Given the description of an element on the screen output the (x, y) to click on. 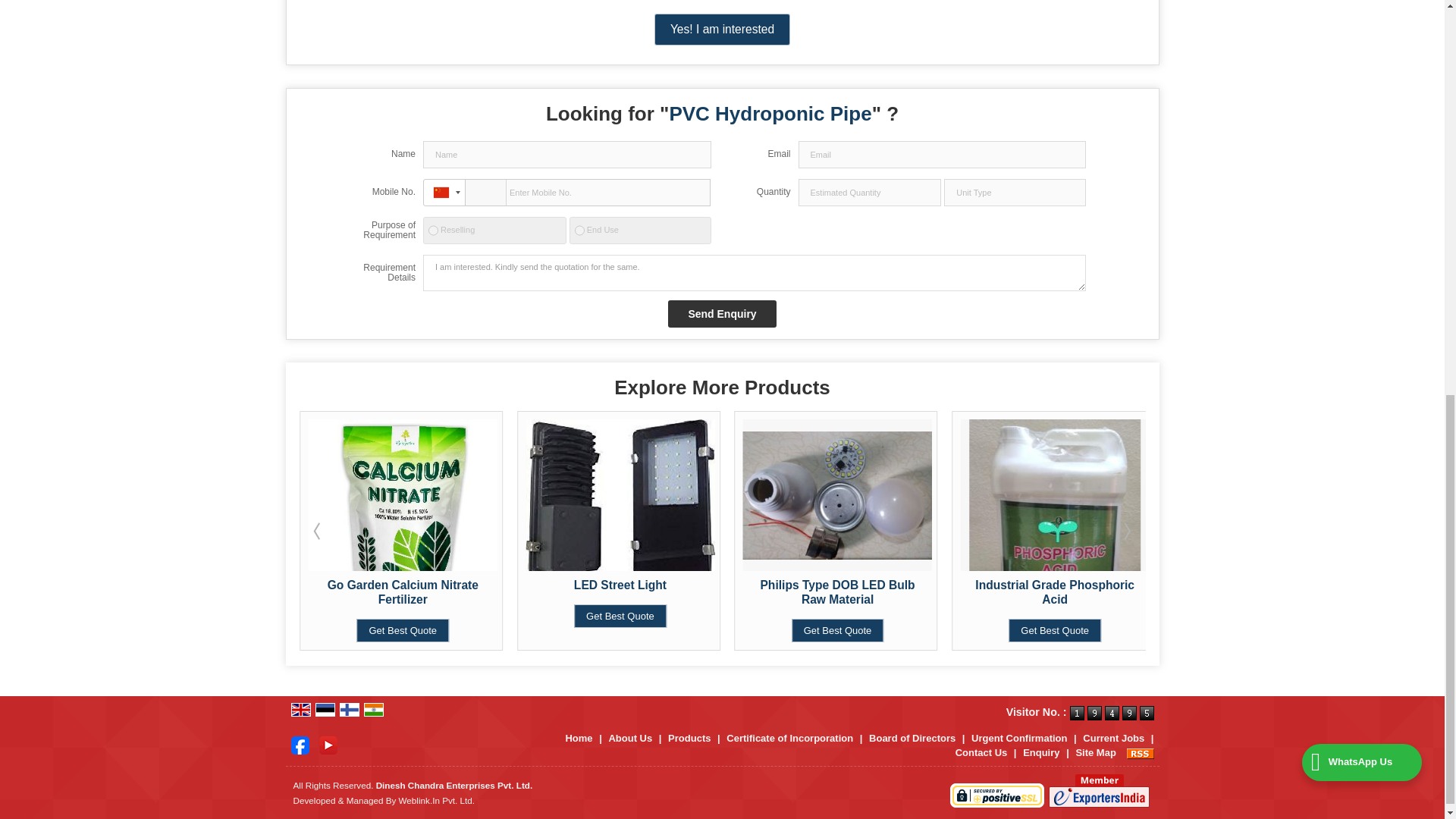
Send Enquiry (722, 313)
